Given the description of an element on the screen output the (x, y) to click on. 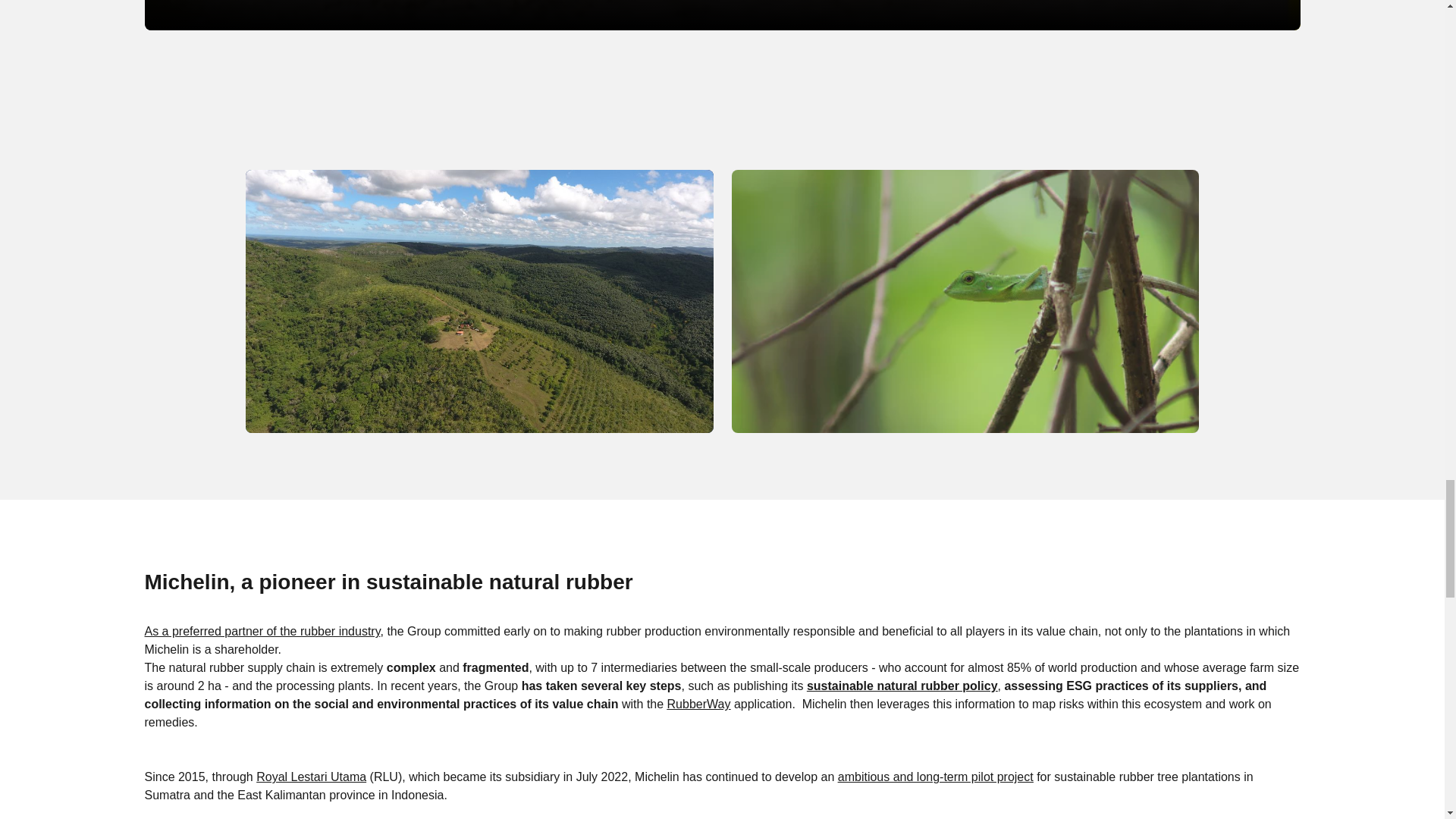
biodiversity (964, 301)
foret 3 (479, 301)
